Given the description of an element on the screen output the (x, y) to click on. 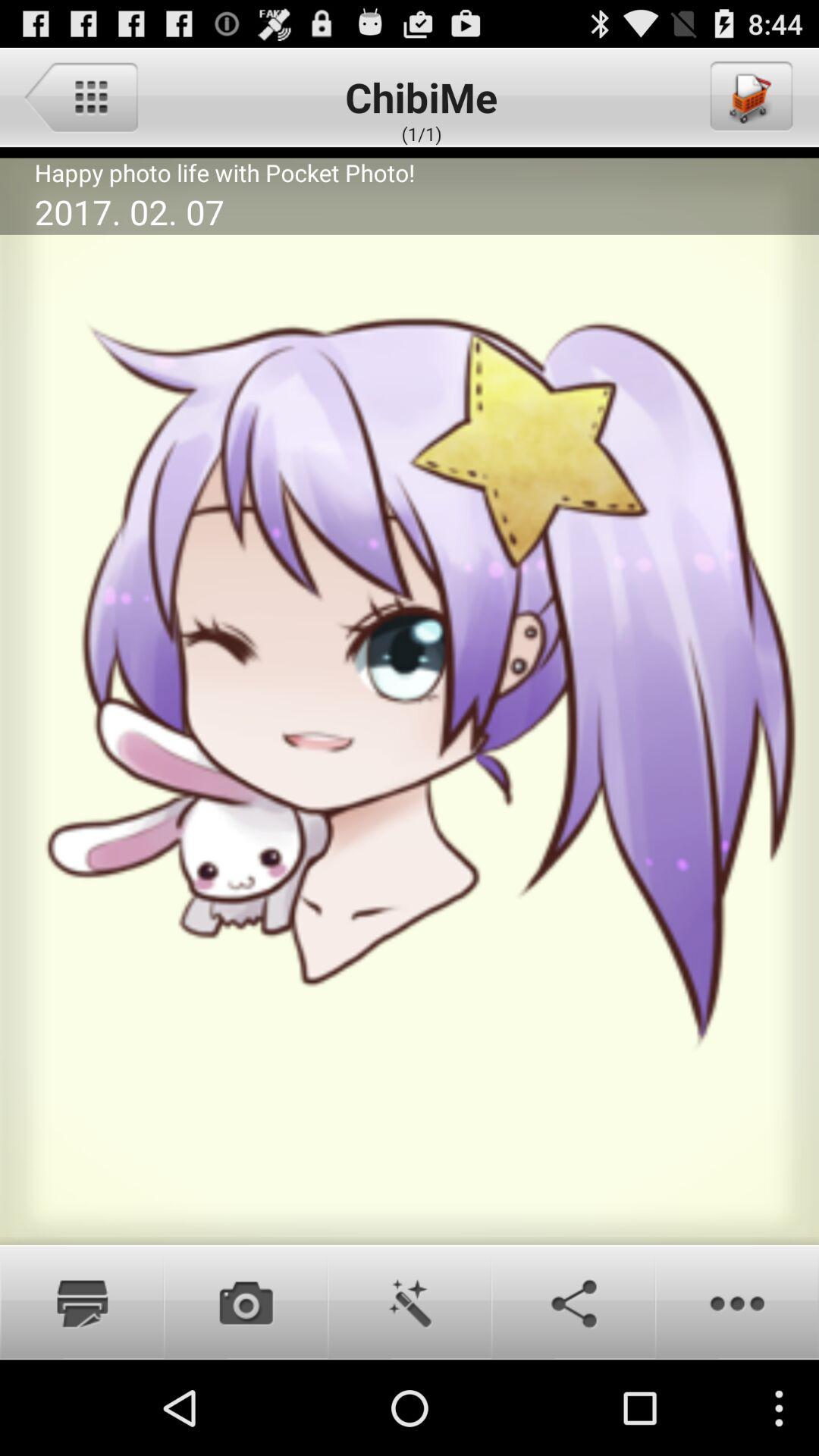
more options button (737, 1301)
